Given the description of an element on the screen output the (x, y) to click on. 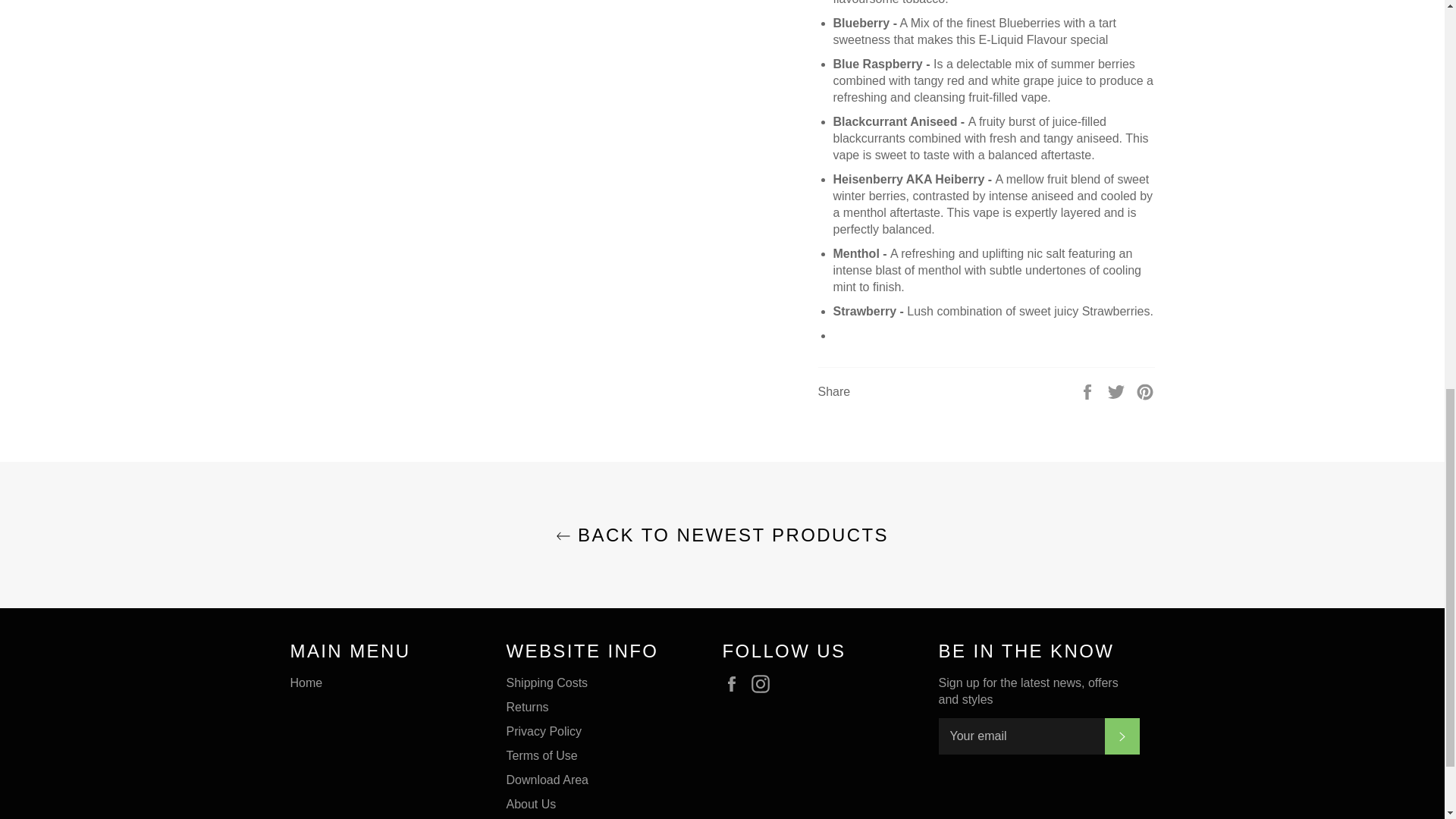
Tweet on Twitter (1117, 390)
Pin on Pinterest (1144, 390)
Share on Facebook (1088, 390)
Home (305, 682)
Pin on Pinterest (1144, 390)
Privacy Policy (544, 730)
BACK TO NEWEST PRODUCTS (721, 534)
Share on Facebook (1088, 390)
Returns (527, 707)
Tweet on Twitter (1117, 390)
